Given the description of an element on the screen output the (x, y) to click on. 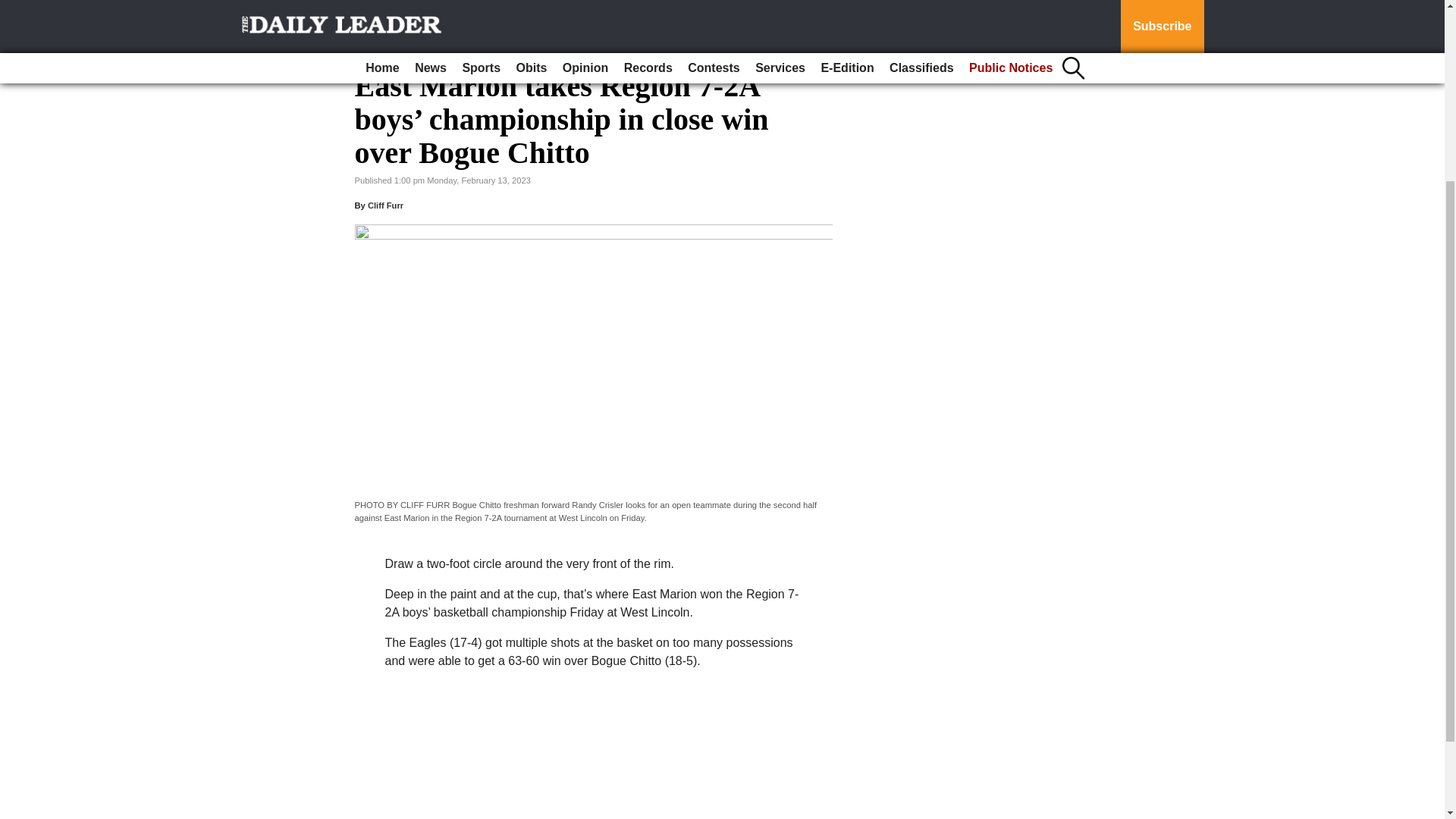
Cliff Furr (385, 204)
